Given the description of an element on the screen output the (x, y) to click on. 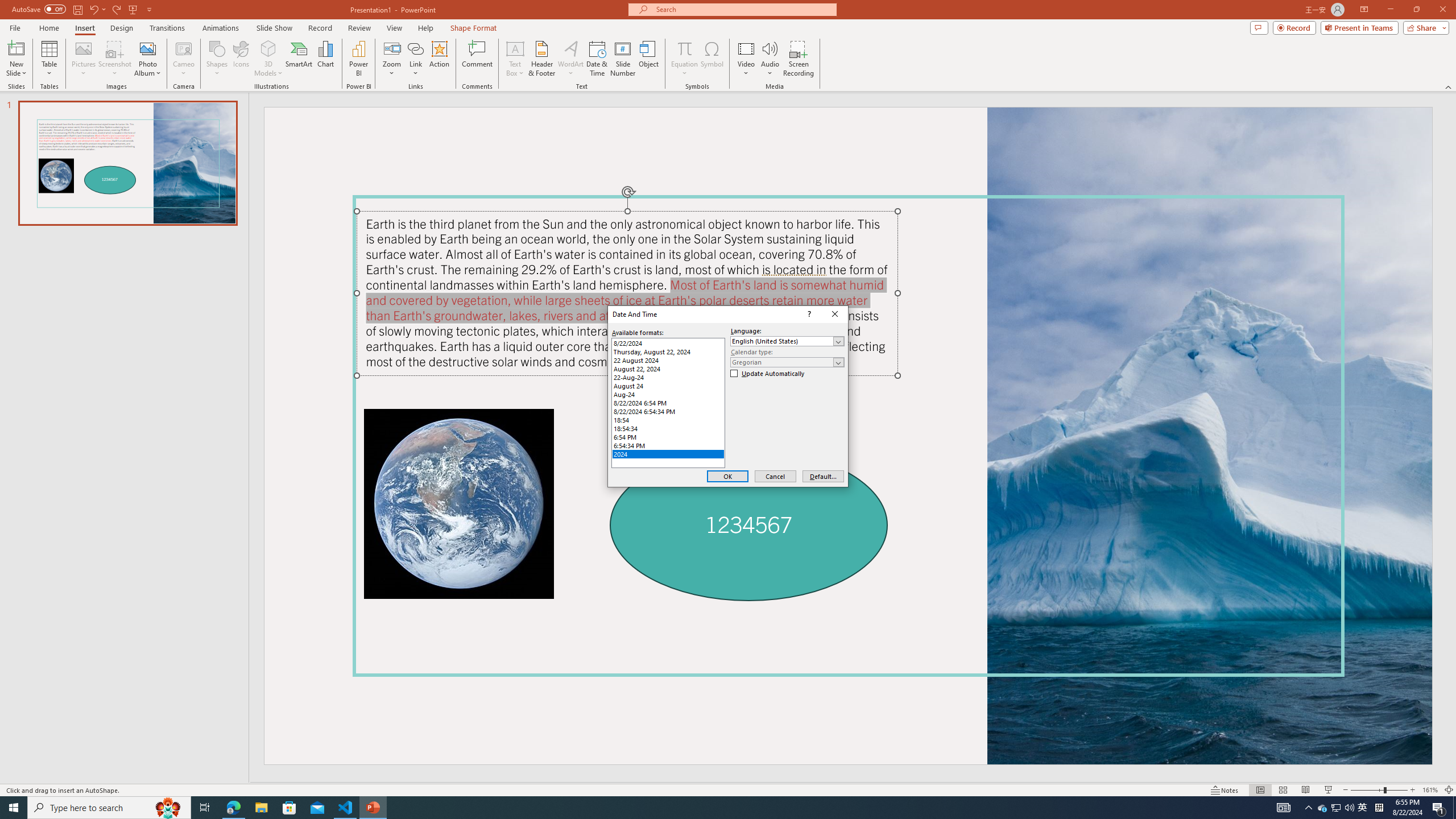
Q2790: 100% (1349, 807)
Slide Sorter (1282, 790)
8/22/2024 6:54:34 PM (667, 411)
Comment (476, 58)
Undo (96, 9)
Shape Format (473, 28)
Help (425, 28)
Zoom (1379, 790)
Open (838, 361)
Undo (92, 9)
New Slide (16, 58)
Quick Access Toolbar (82, 9)
18:54:34 (667, 428)
WordArt (570, 58)
Aug-24 (667, 393)
